Given the description of an element on the screen output the (x, y) to click on. 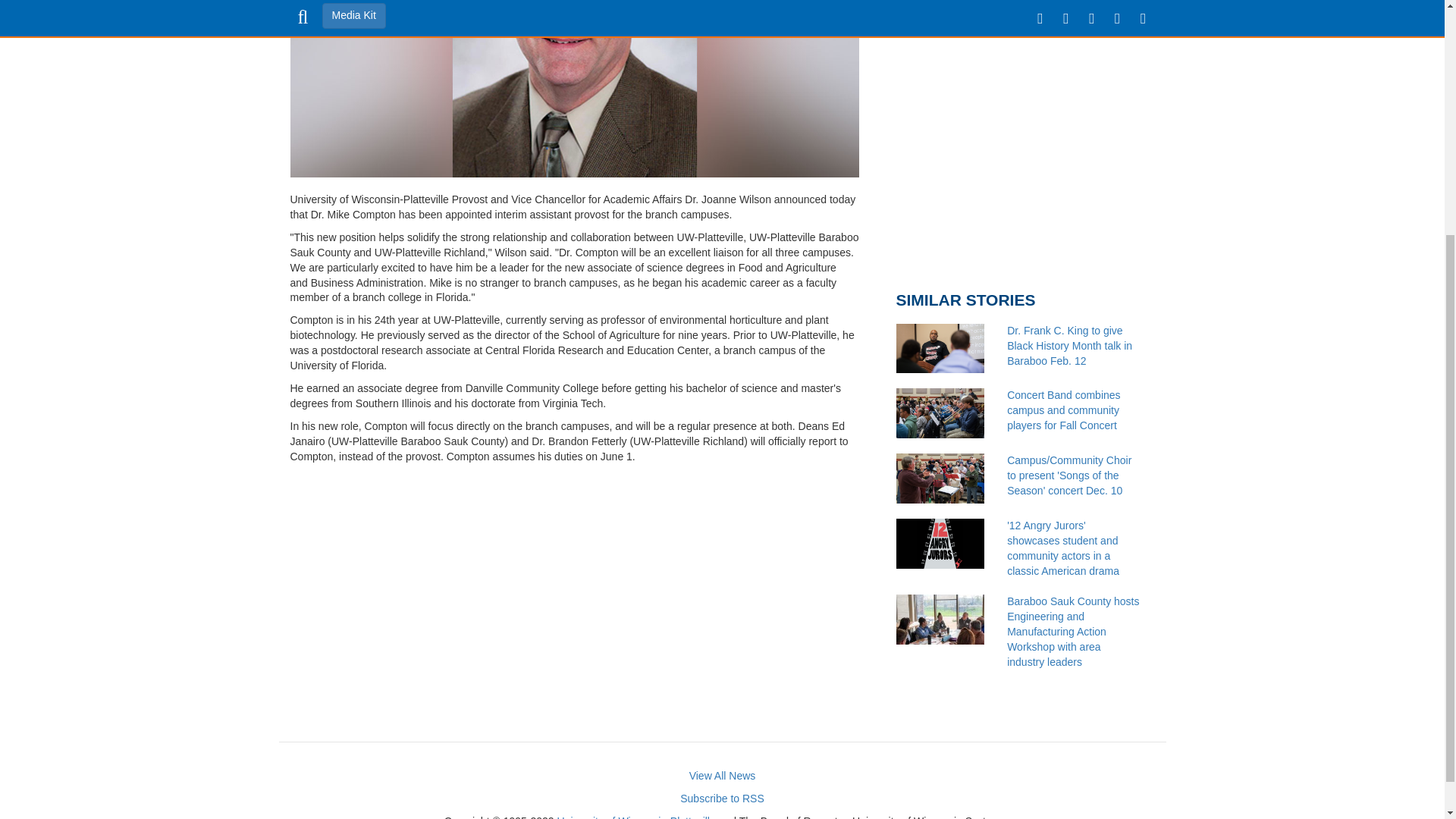
Facebook Posts (1025, 135)
View All News (721, 775)
Subscribe to RSS (721, 798)
